Given the description of an element on the screen output the (x, y) to click on. 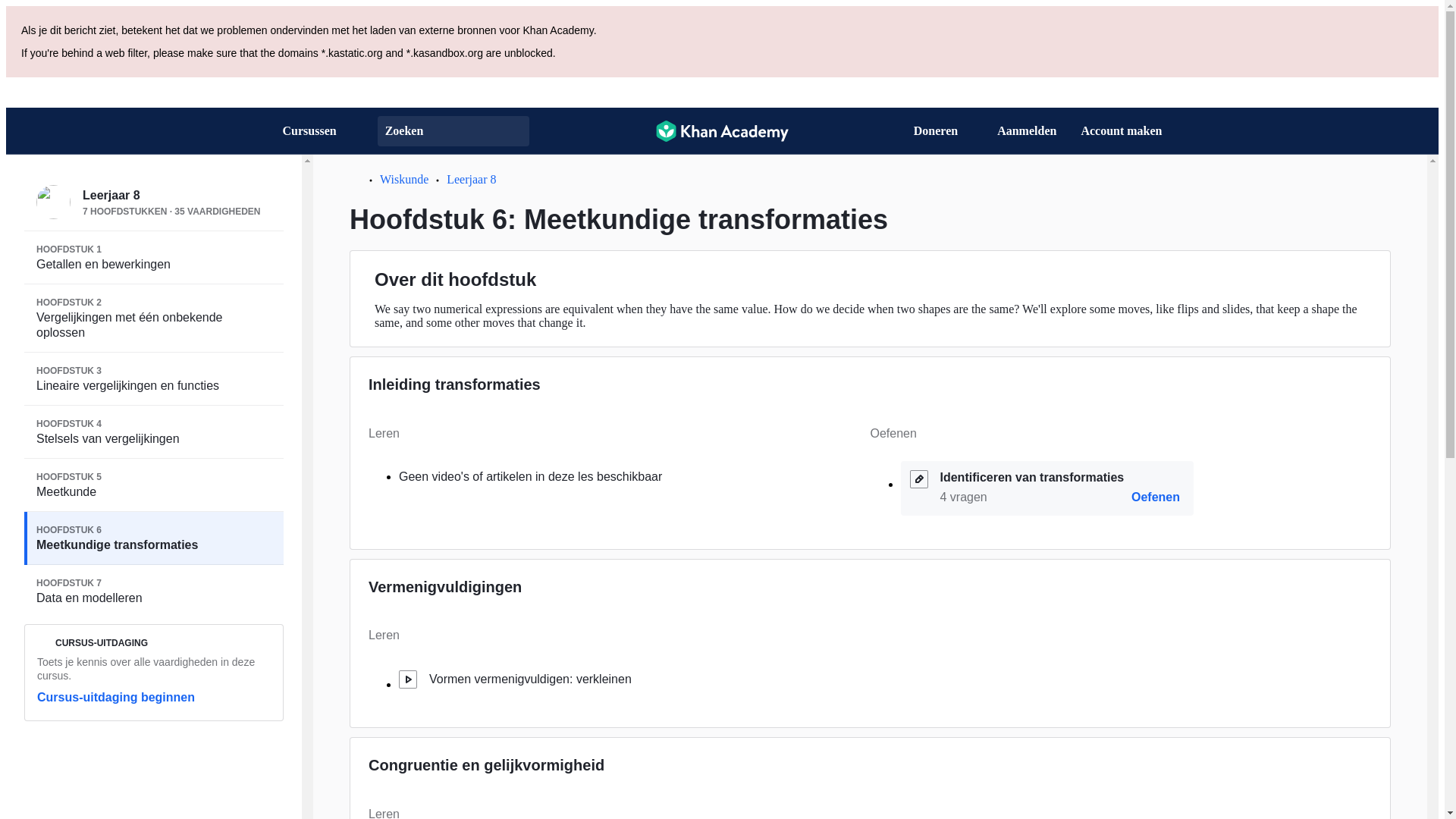
Leerjaar 8 (471, 179)
Zoeken (453, 131)
Inleiding transformaties (153, 378)
Oefenen (454, 384)
Vermenigvuldigingen (153, 484)
Cursus-uitdaging beginnen (1155, 497)
Account maken (153, 538)
Cursussen (444, 586)
Wiskunde (116, 697)
Identificeren van transformaties (153, 257)
Doneren (1120, 130)
